Given the description of an element on the screen output the (x, y) to click on. 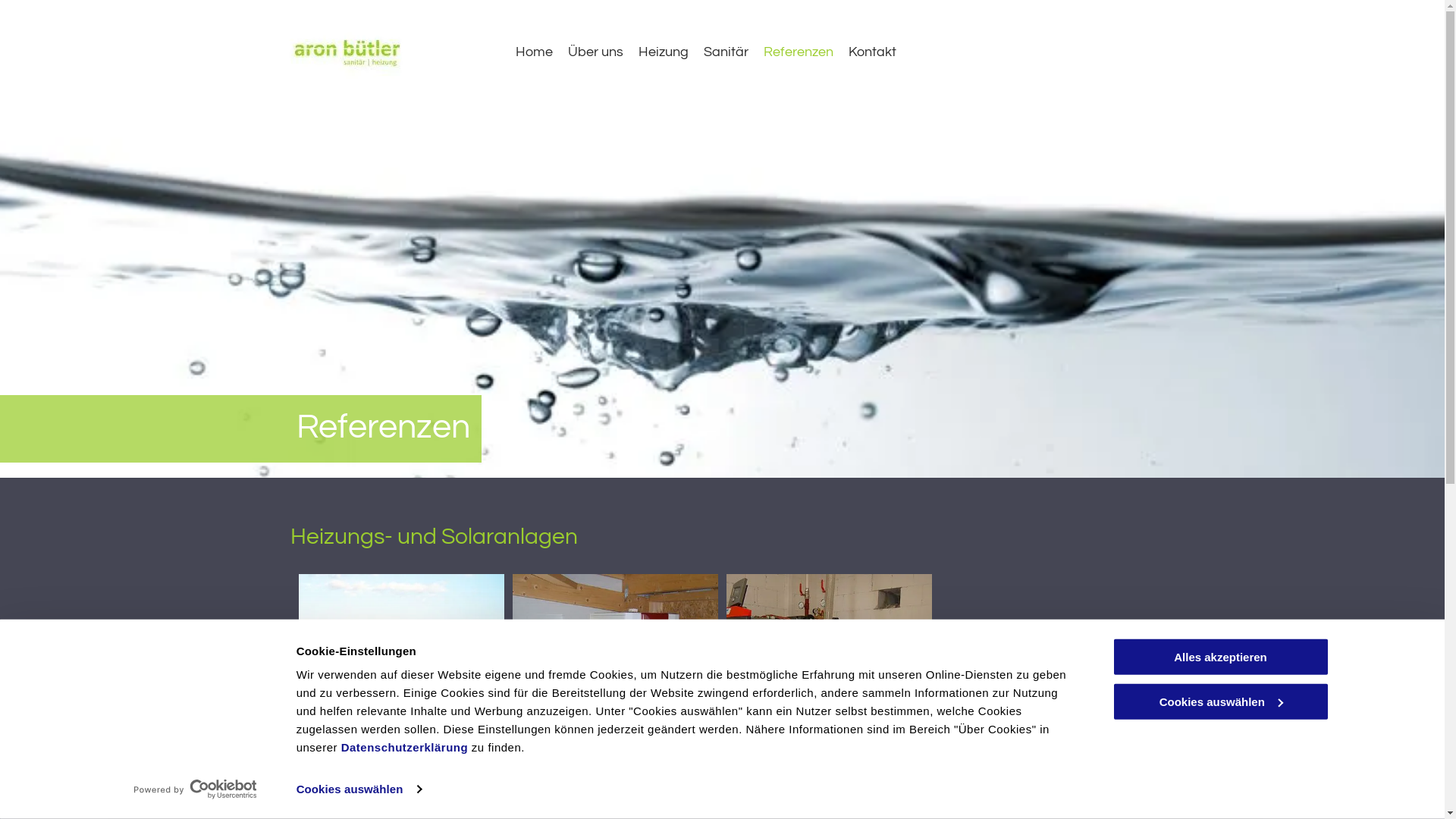
Home Element type: text (533, 51)
Kontakt Element type: text (872, 51)
Alles akzeptieren Element type: text (1219, 656)
Referenzen Element type: text (798, 51)
Heizung Element type: text (663, 51)
